Given the description of an element on the screen output the (x, y) to click on. 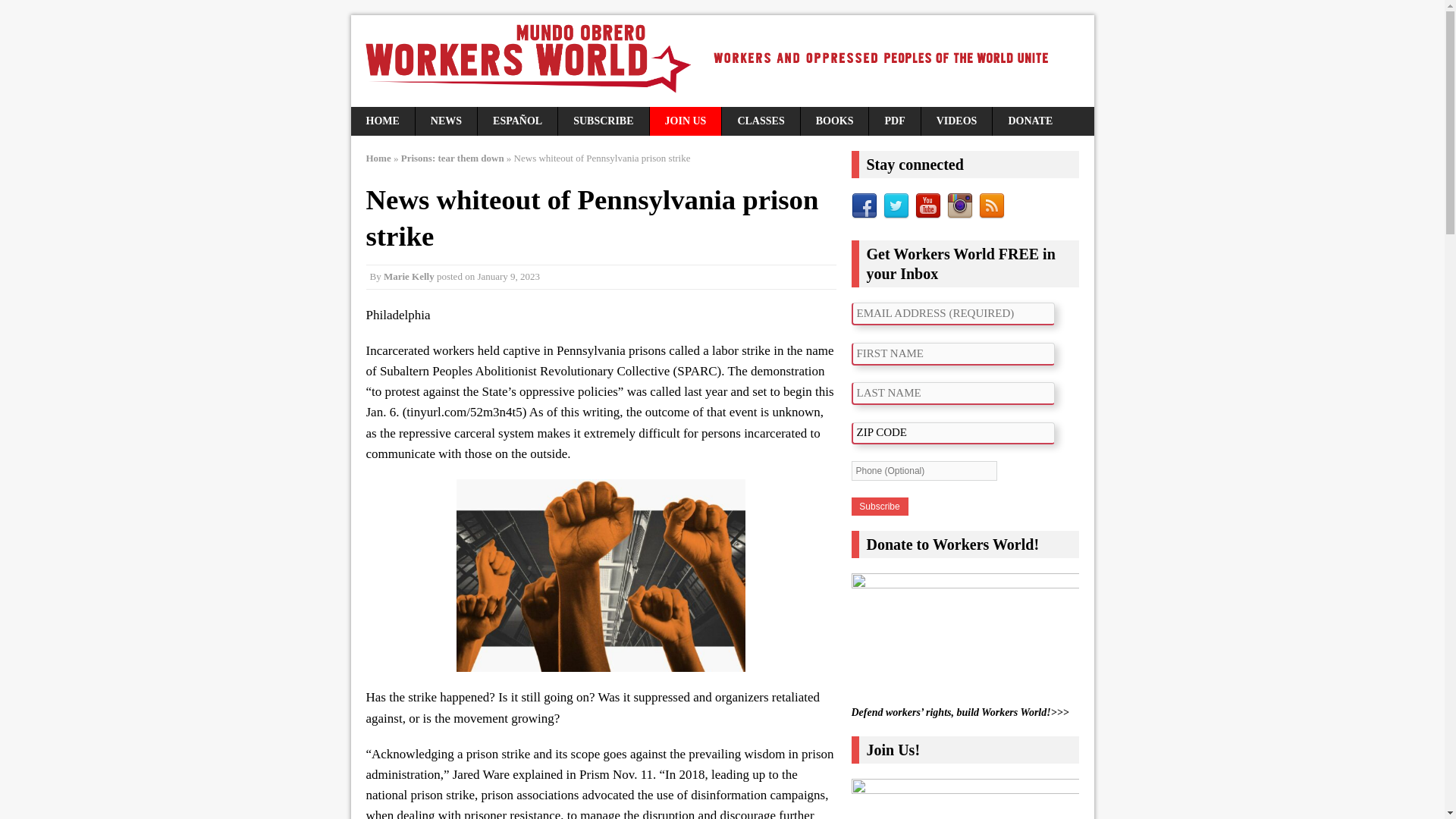
PDF (894, 121)
HOME (381, 121)
NEWS (445, 121)
CLASSES (760, 121)
Workers World (721, 61)
Subscribe (878, 506)
JOIN US (685, 121)
SUBSCRIBE (602, 121)
BOOKS (834, 121)
